Given the description of an element on the screen output the (x, y) to click on. 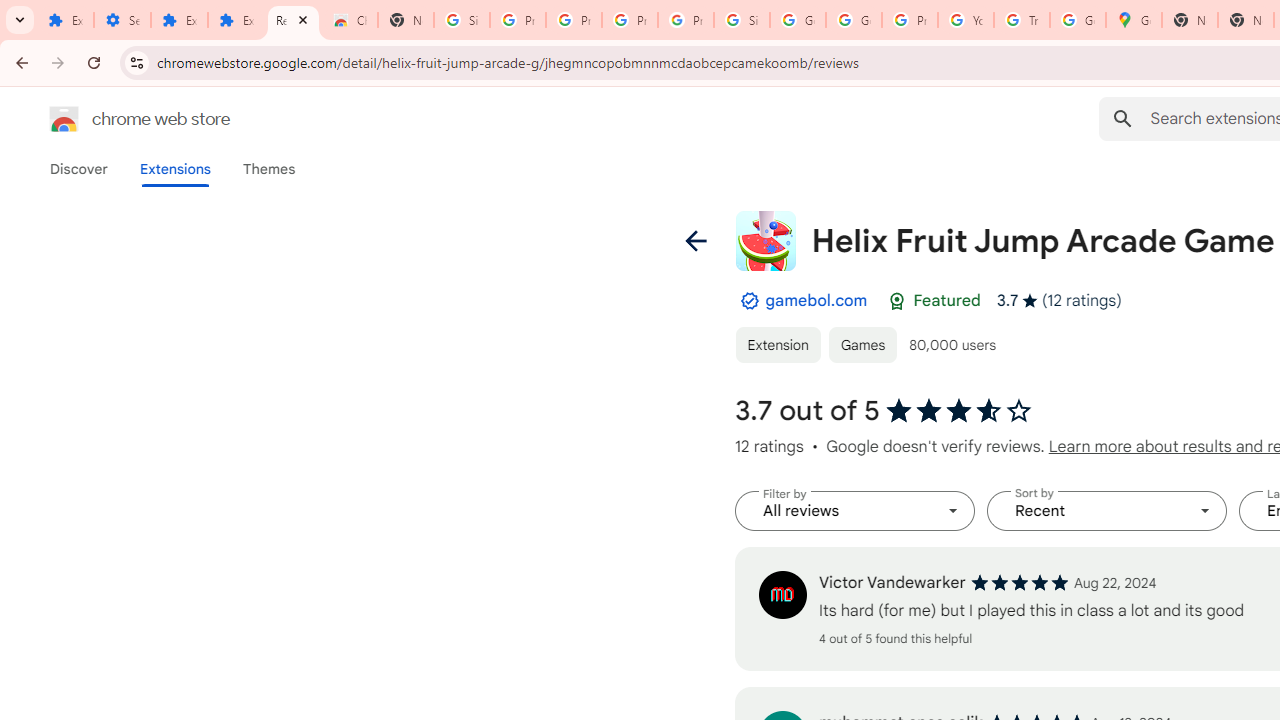
Google Maps (1133, 20)
Discover (79, 169)
